Given the description of an element on the screen output the (x, y) to click on. 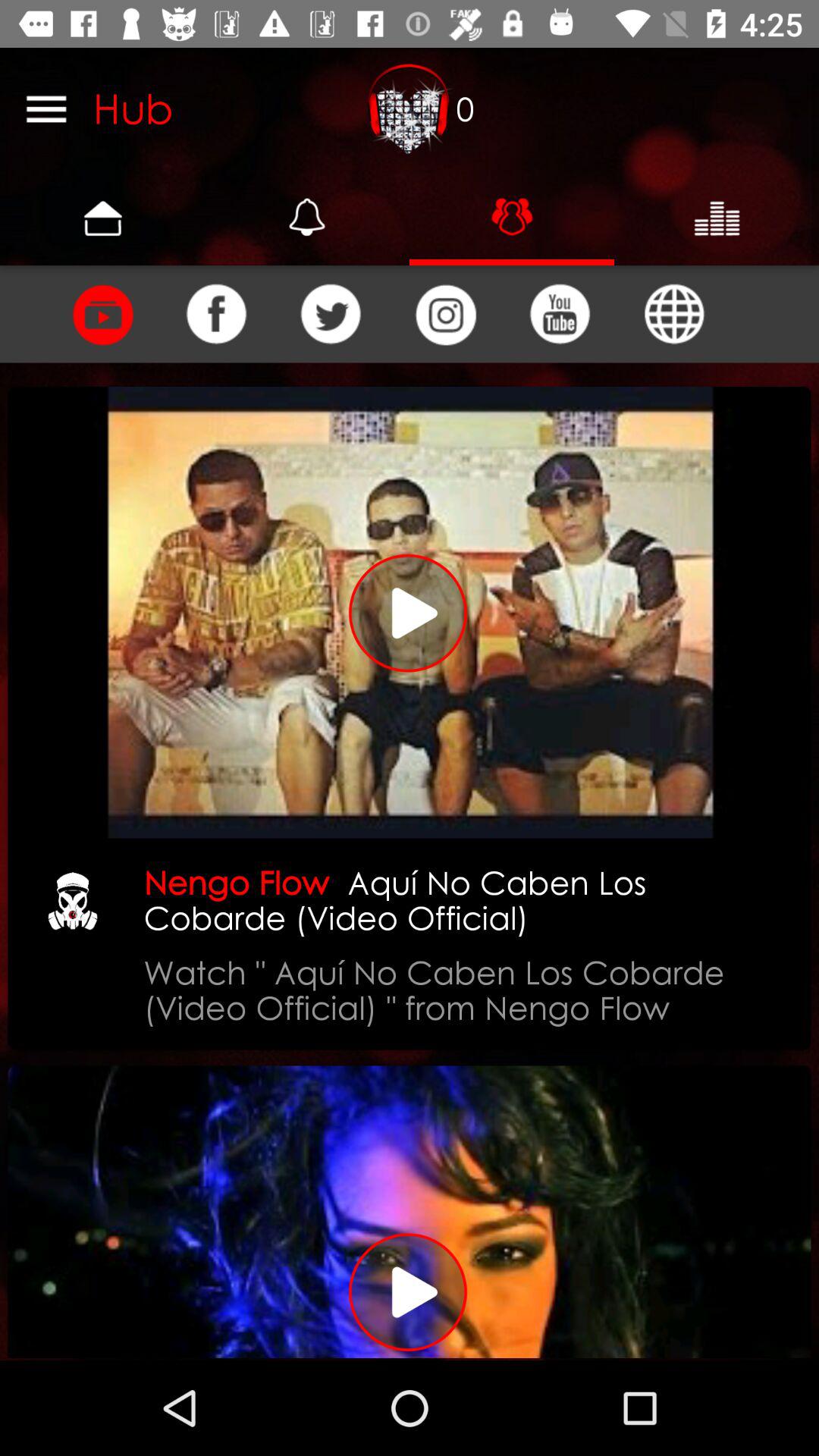
view the clip of any song (101, 313)
